Given the description of an element on the screen output the (x, y) to click on. 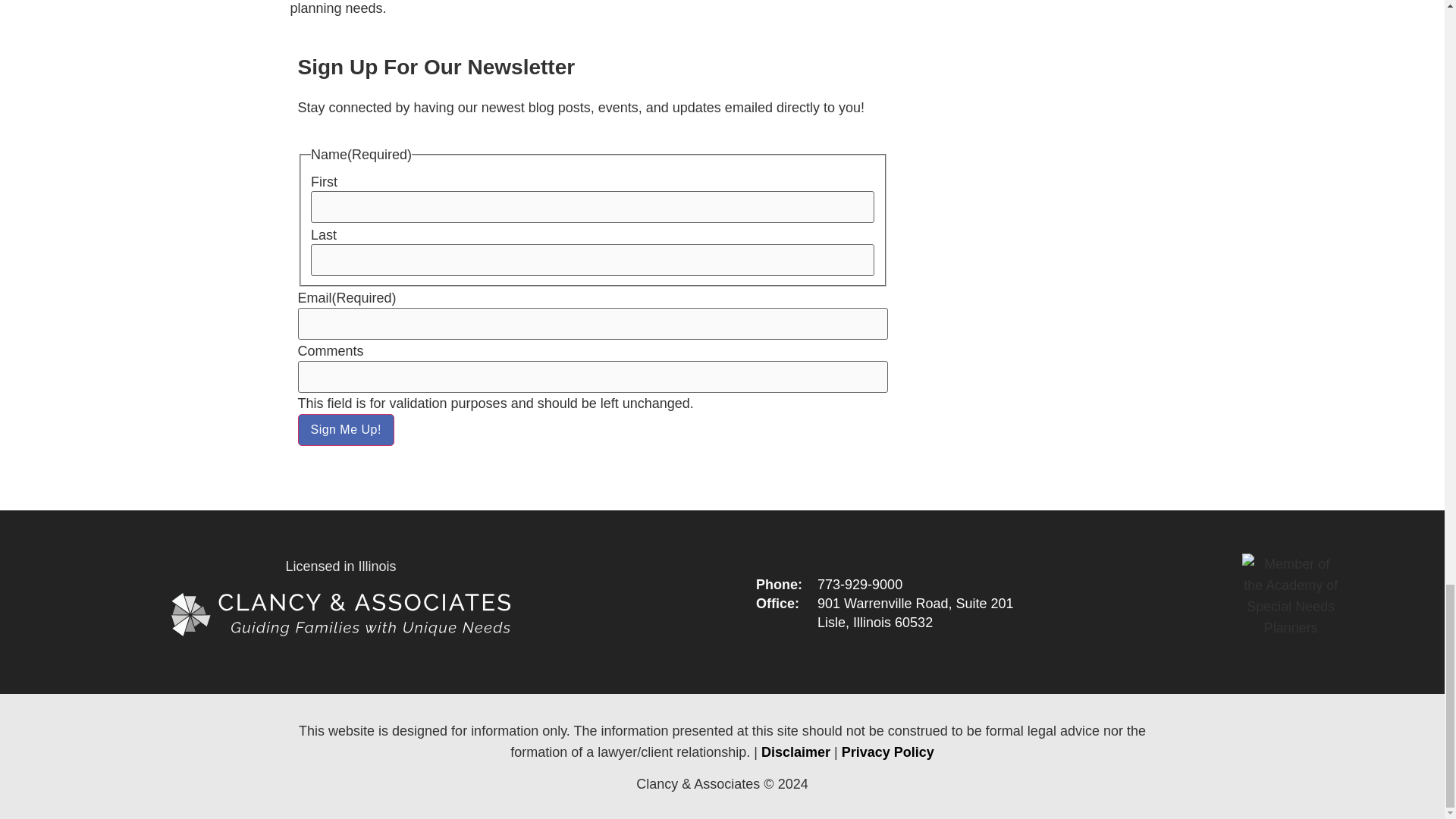
Sign Me Up! (345, 429)
